Given the description of an element on the screen output the (x, y) to click on. 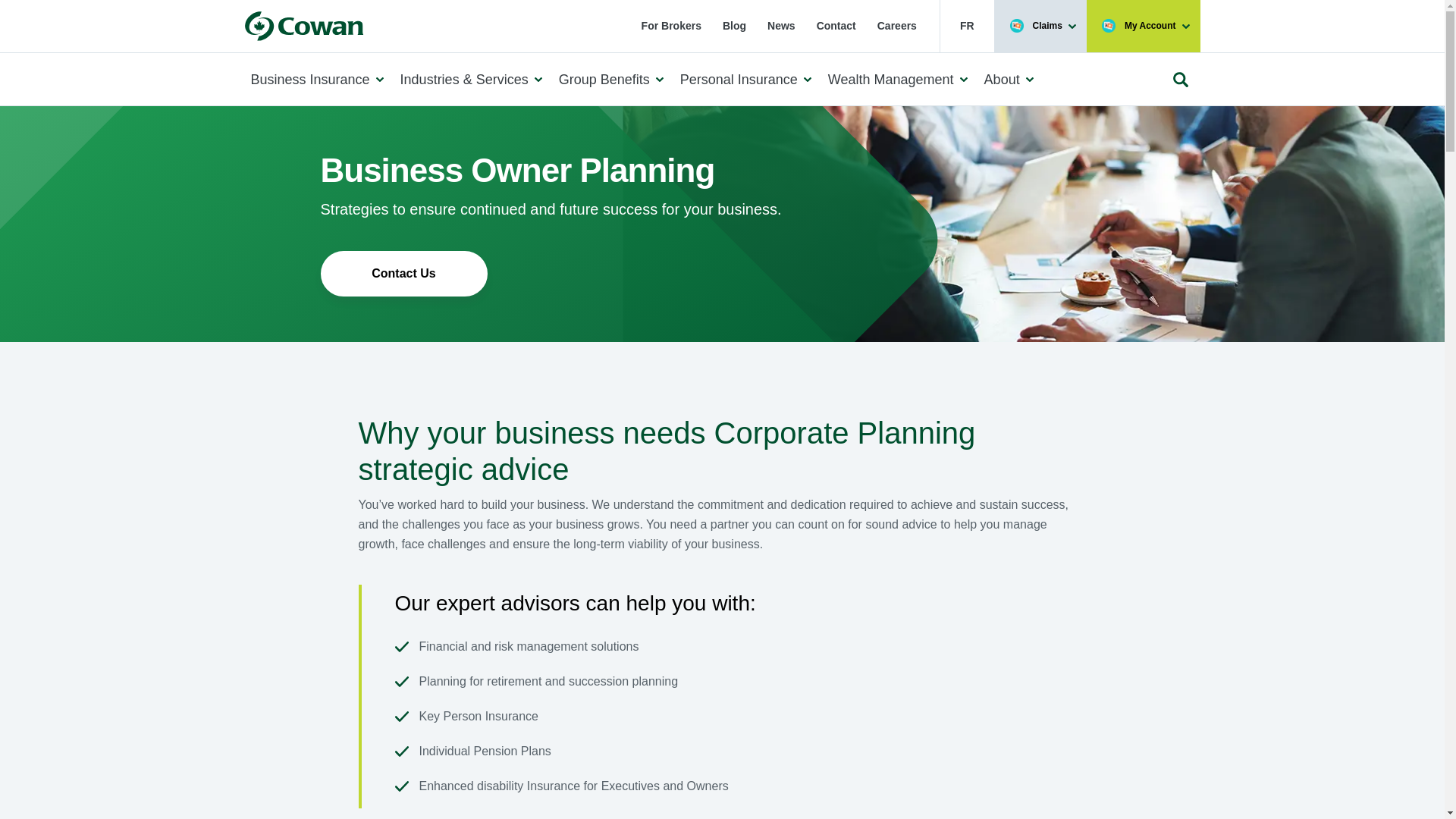
Careers (896, 25)
Claims (1040, 26)
News (781, 25)
Contact Us (836, 25)
Blog (734, 25)
Claims (1040, 26)
Contact (836, 25)
Careers (896, 25)
FR (966, 26)
Blog (734, 25)
